Given the description of an element on the screen output the (x, y) to click on. 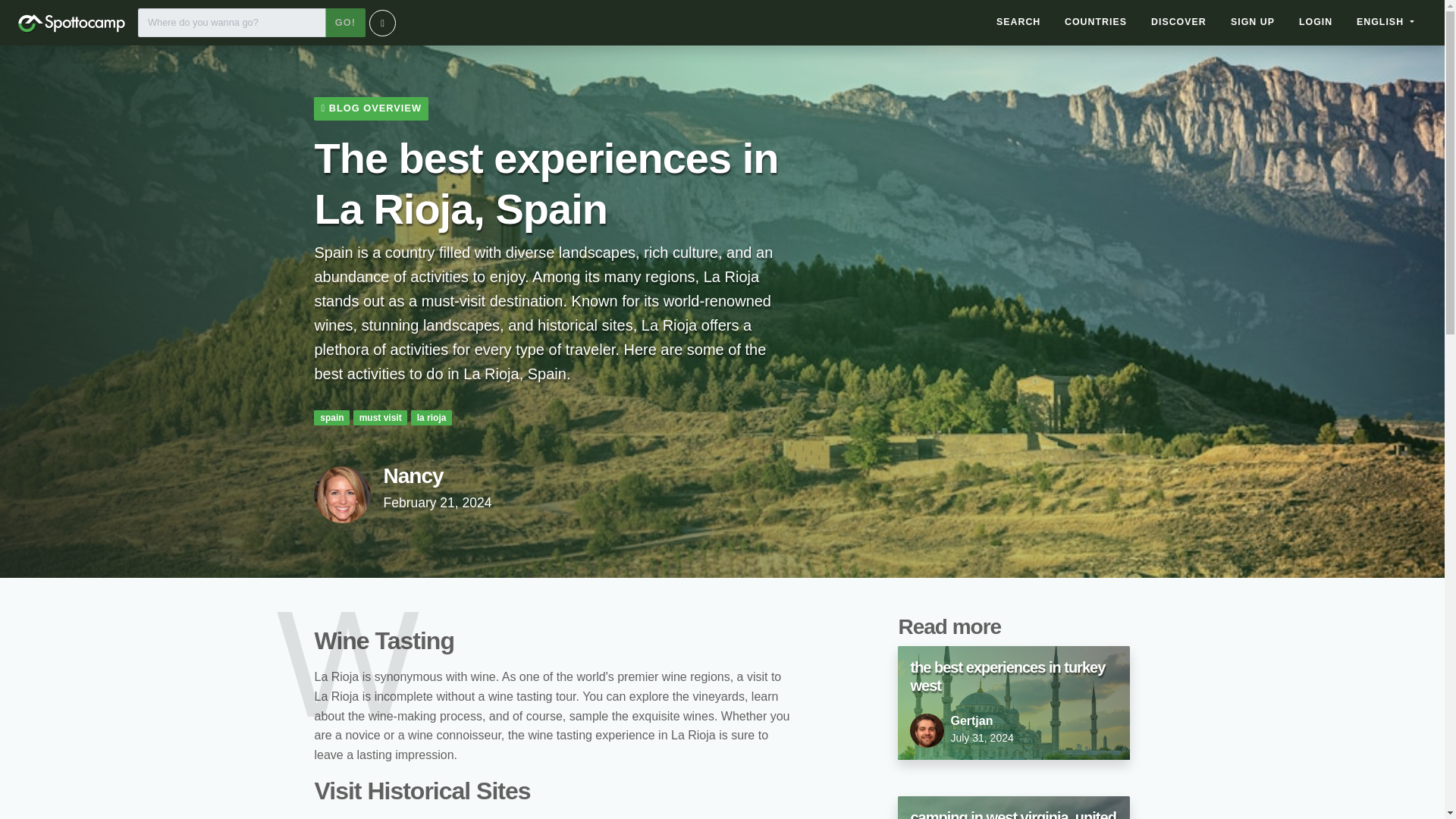
BLOG OVERVIEW (371, 108)
SIGN UP (1252, 22)
DISCOVER (1178, 22)
COUNTRIES (1013, 807)
LOGIN (1013, 703)
GO! (1095, 22)
SEARCH (1315, 22)
